Given the description of an element on the screen output the (x, y) to click on. 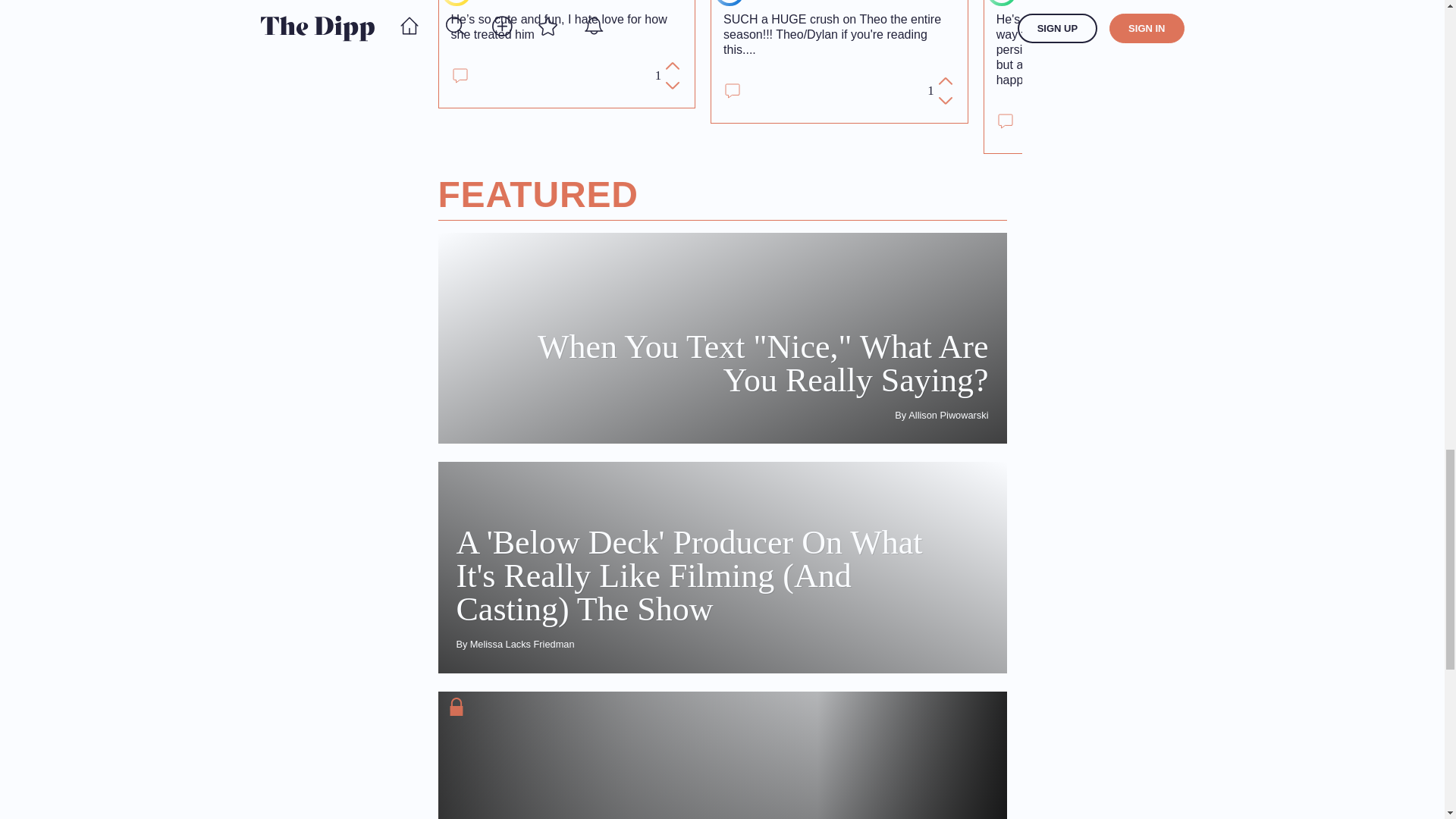
over 2 years ago (636, 2)
rebeccafox44 (785, 2)
madisongengelman (529, 2)
I (1001, 2)
R (729, 2)
M (456, 2)
over 2 years ago (874, 2)
